Given the description of an element on the screen output the (x, y) to click on. 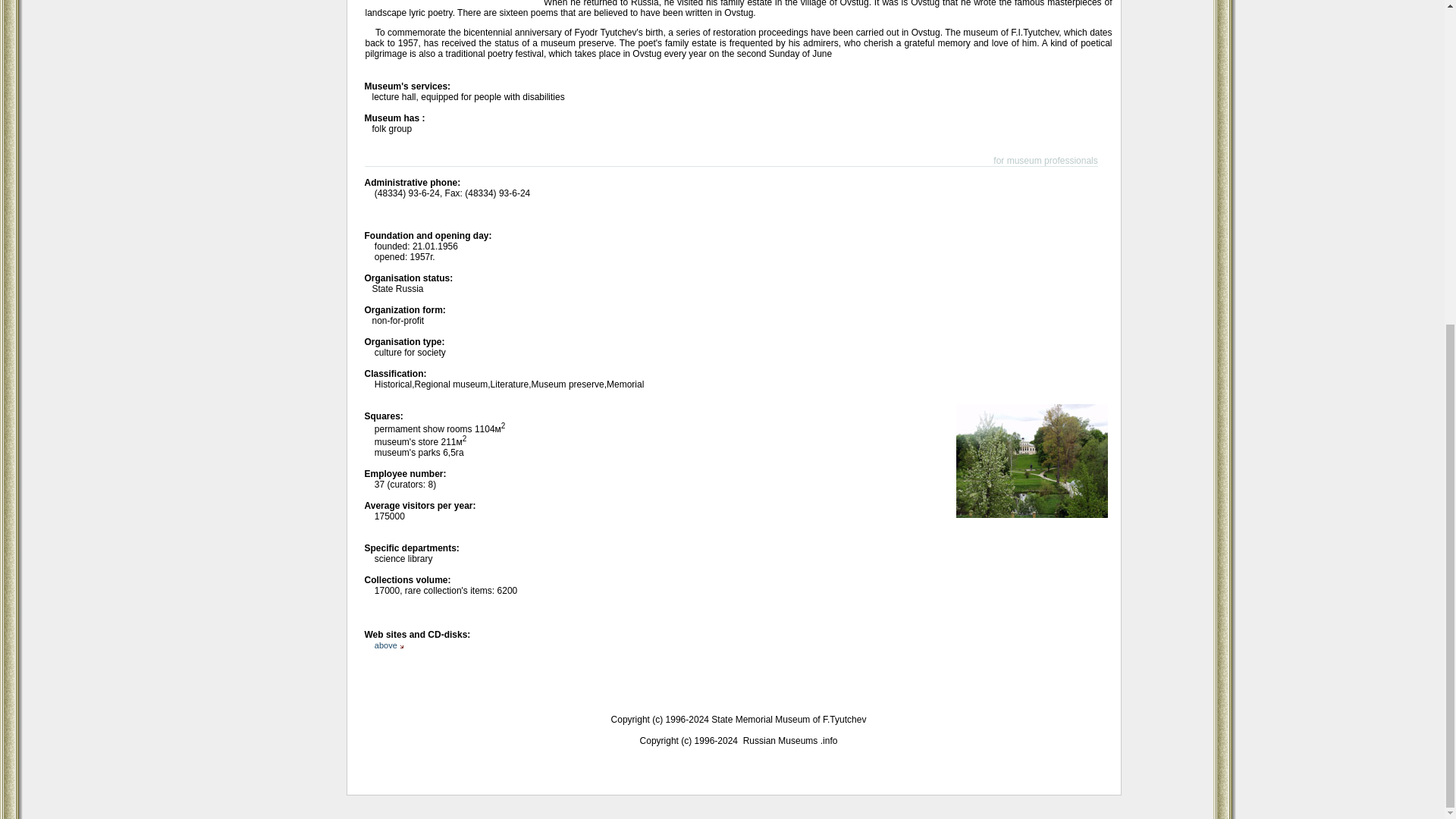
above (388, 645)
